Given the description of an element on the screen output the (x, y) to click on. 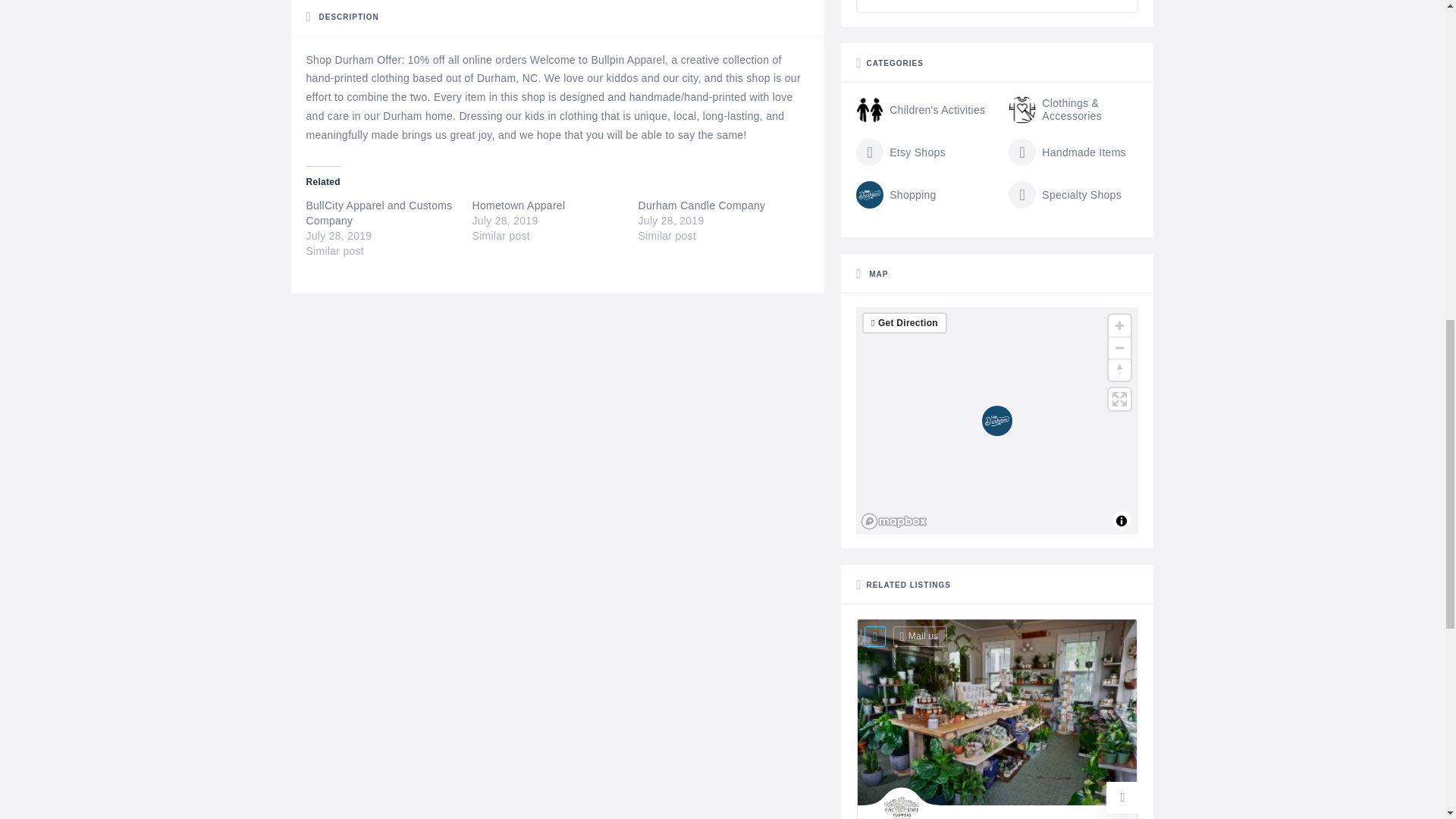
Specialty Shops (1065, 194)
Children's Activities (920, 109)
Children's Activities (920, 109)
Specialty Shops (1065, 194)
Durham Candle Company (702, 205)
Toggle attribution (1121, 520)
Zoom out (1119, 347)
Shopping (896, 194)
Reset bearing to north (1119, 369)
Enter fullscreen (1119, 399)
Handmade Items (1067, 152)
Etsy Shops (900, 152)
BullCity Apparel and Customs Company (378, 212)
Shopping (896, 194)
Get Direction (907, 322)
